Given the description of an element on the screen output the (x, y) to click on. 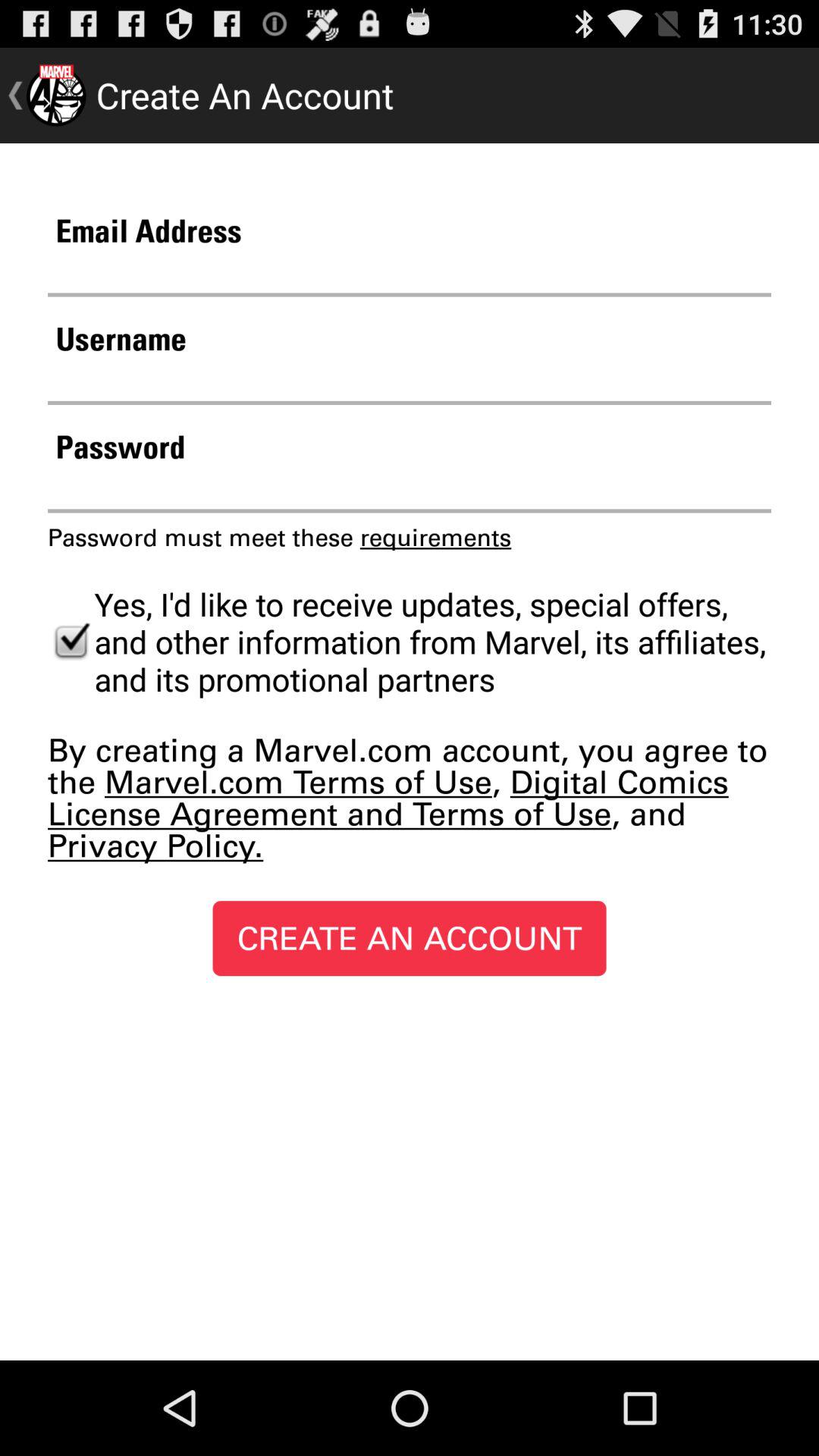
enter your password (409, 489)
